Given the description of an element on the screen output the (x, y) to click on. 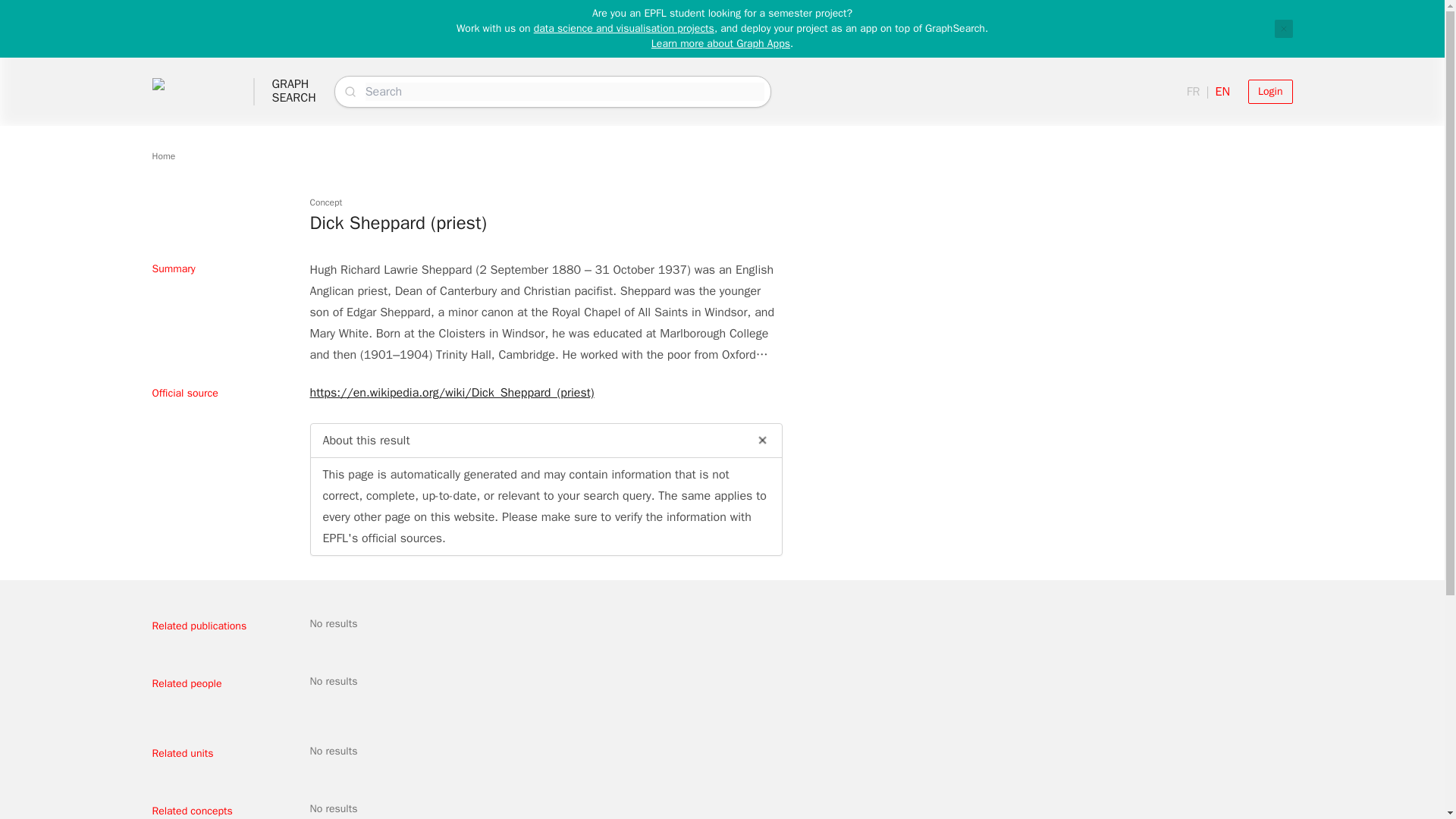
Home (292, 90)
Close notification (162, 155)
FR (1283, 28)
Login (1192, 91)
Learn more about Graph Apps (1269, 91)
data science and visualisation projects (720, 42)
EN (624, 28)
